Given the description of an element on the screen output the (x, y) to click on. 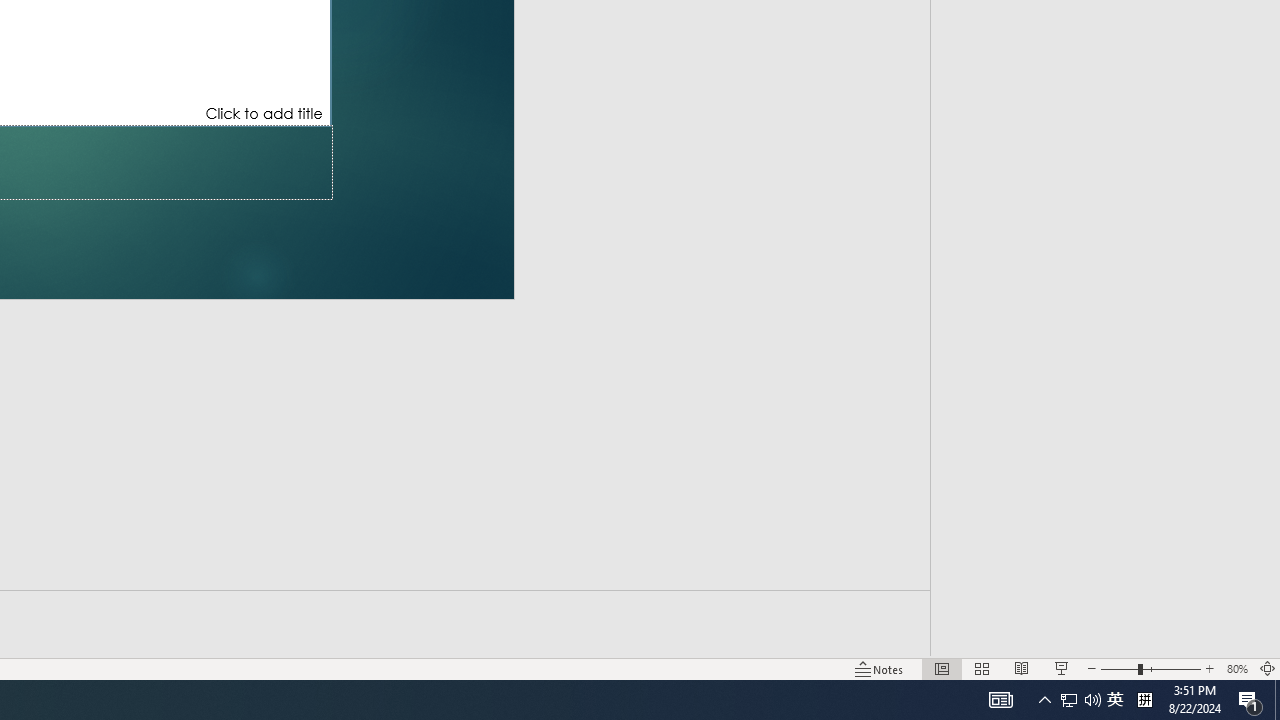
Zoom 80% (1236, 668)
